Given the description of an element on the screen output the (x, y) to click on. 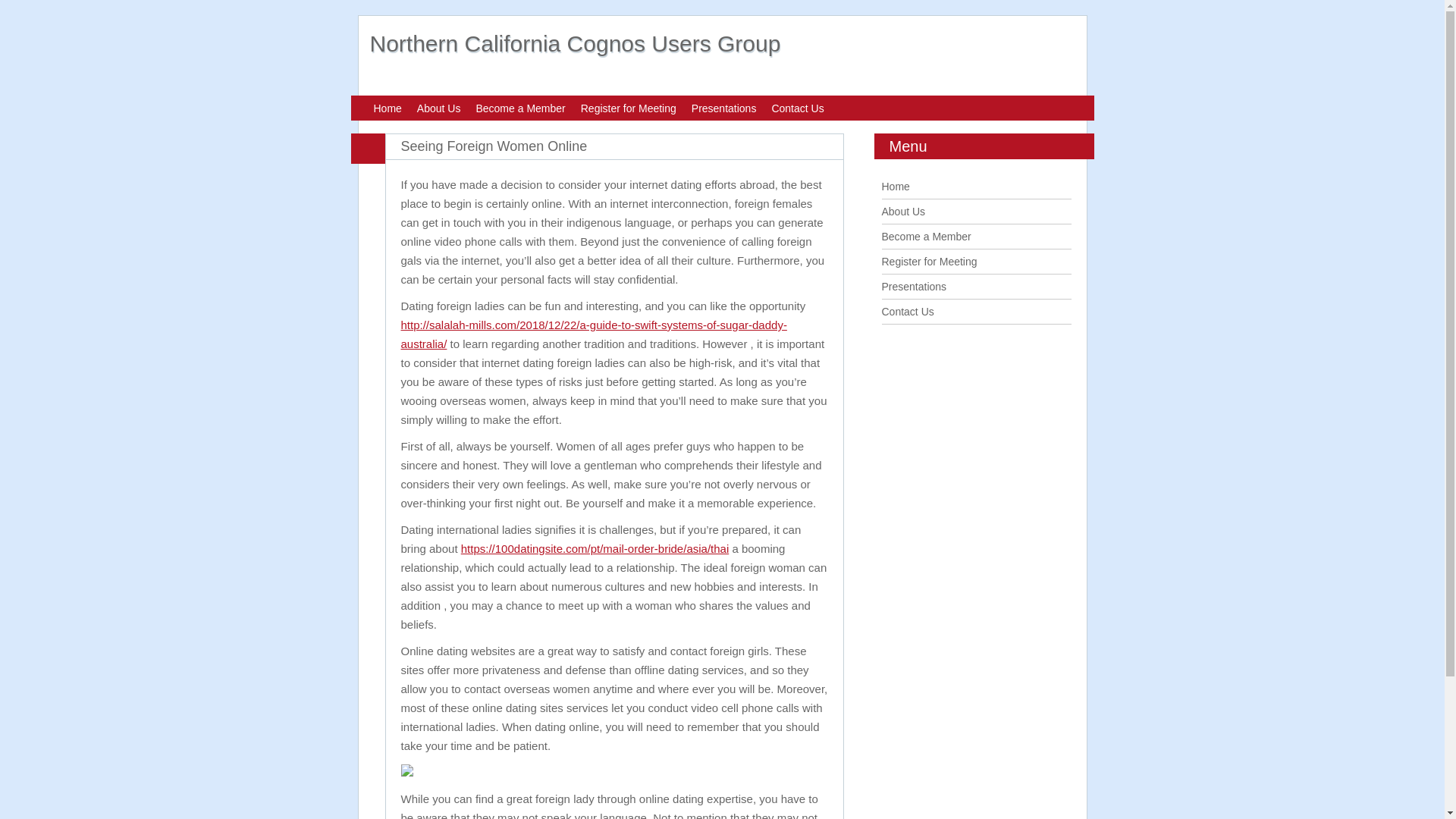
Become a Member (925, 236)
Permalink to Seeing Foreign Women Online (493, 145)
Seeing Foreign Women Online (493, 145)
Register for Meeting (628, 108)
Home (894, 186)
Presentations (913, 286)
Contact Us (906, 311)
Register for Meeting (928, 261)
Contact Us (797, 108)
Home (386, 108)
